Given the description of an element on the screen output the (x, y) to click on. 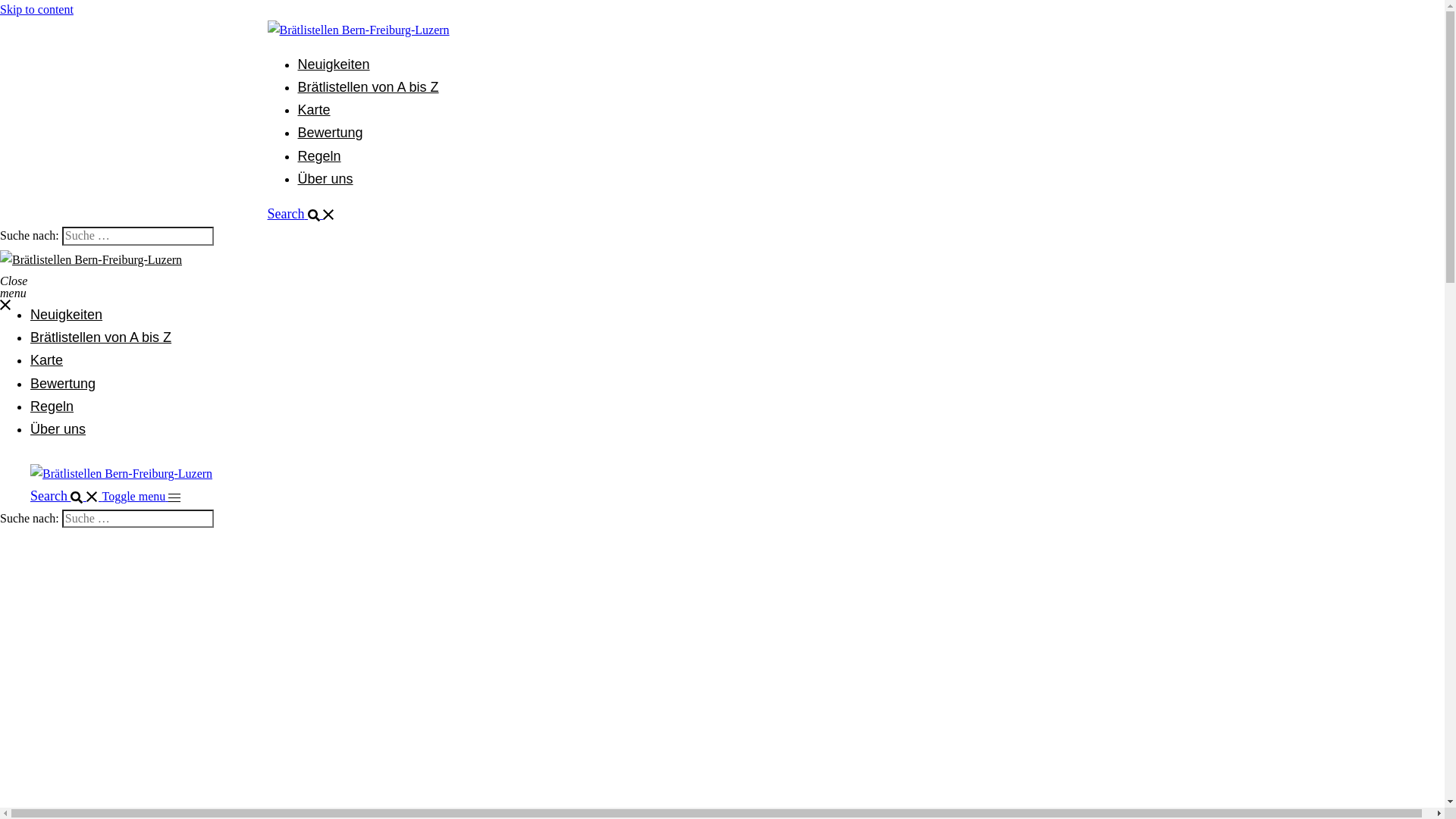
Karte Element type: text (46, 360)
Close menu Element type: text (6, 279)
Suche Element type: text (246, 236)
Neuigkeiten Element type: text (333, 64)
Regeln Element type: text (318, 155)
Toggle menu Element type: text (140, 495)
Suche Element type: text (246, 519)
Karte Element type: text (313, 109)
Search Element type: text (65, 495)
Skip to content Element type: text (36, 9)
Regeln Element type: text (51, 406)
Neuigkeiten Element type: text (66, 314)
Search Element type: text (300, 213)
Bewertung Element type: text (62, 383)
Bewertung Element type: text (329, 132)
